Given the description of an element on the screen output the (x, y) to click on. 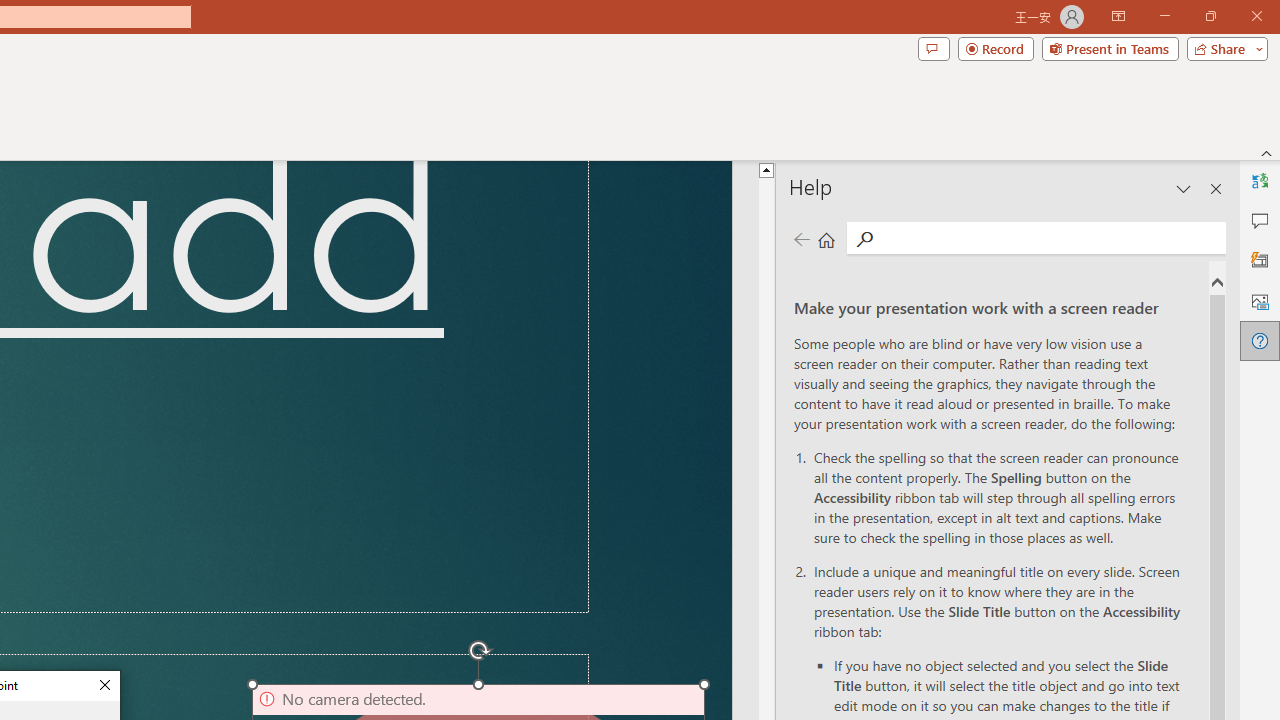
Minimize (1099, 32)
